Given the description of an element on the screen output the (x, y) to click on. 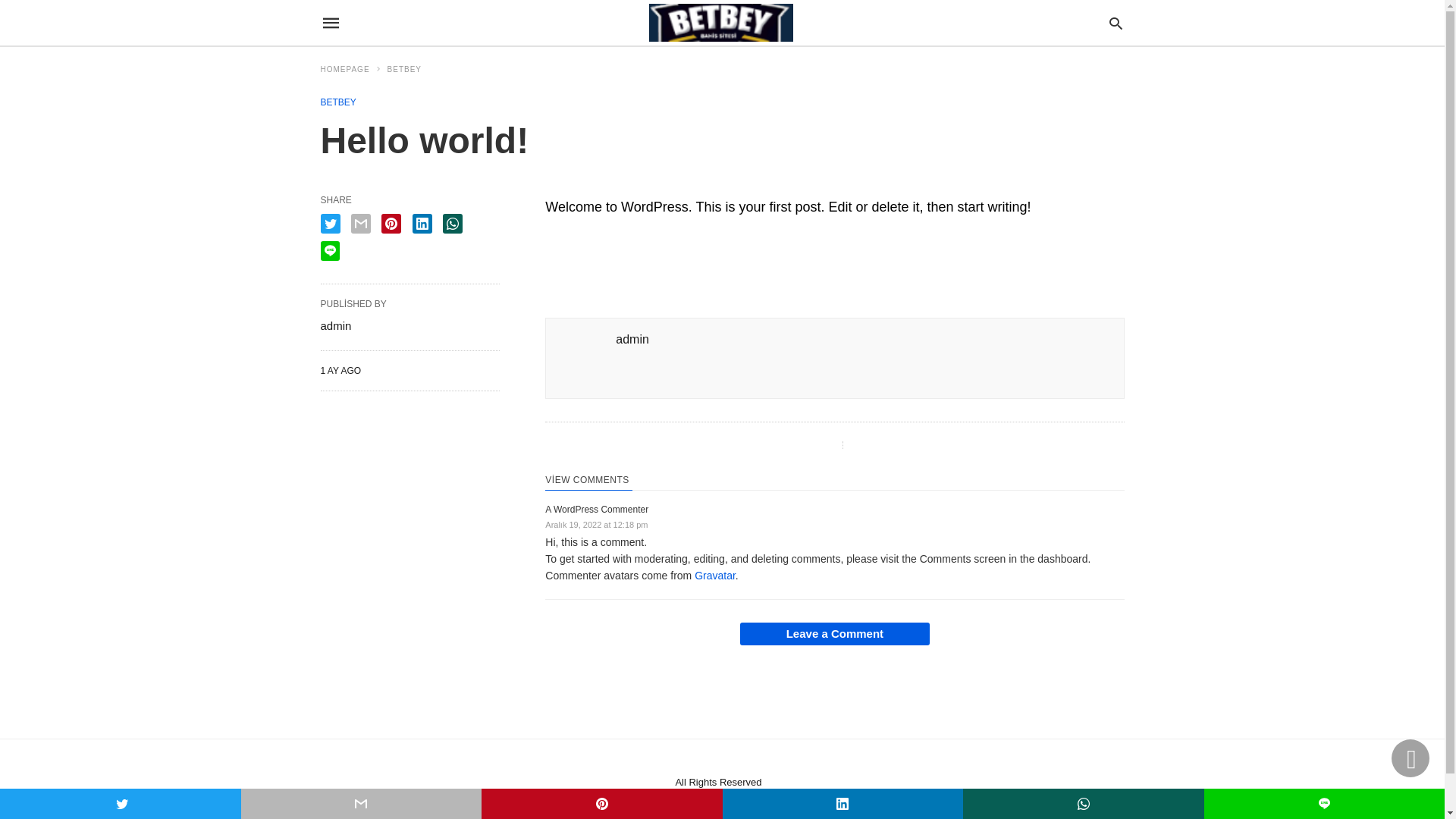
BETBEY Element type: text (337, 102)
AddThis Website Tools Element type: hover (666, 276)
BetBey Element type: hover (721, 22)
BETBEY Element type: text (404, 69)
HOMEPAGE Element type: text (351, 69)
Gravatar Element type: text (714, 575)
line share Element type: hover (329, 250)
search Element type: hover (1115, 22)
back to top Element type: hover (1410, 758)
Leave a Comment Element type: text (834, 633)
